Given the description of an element on the screen output the (x, y) to click on. 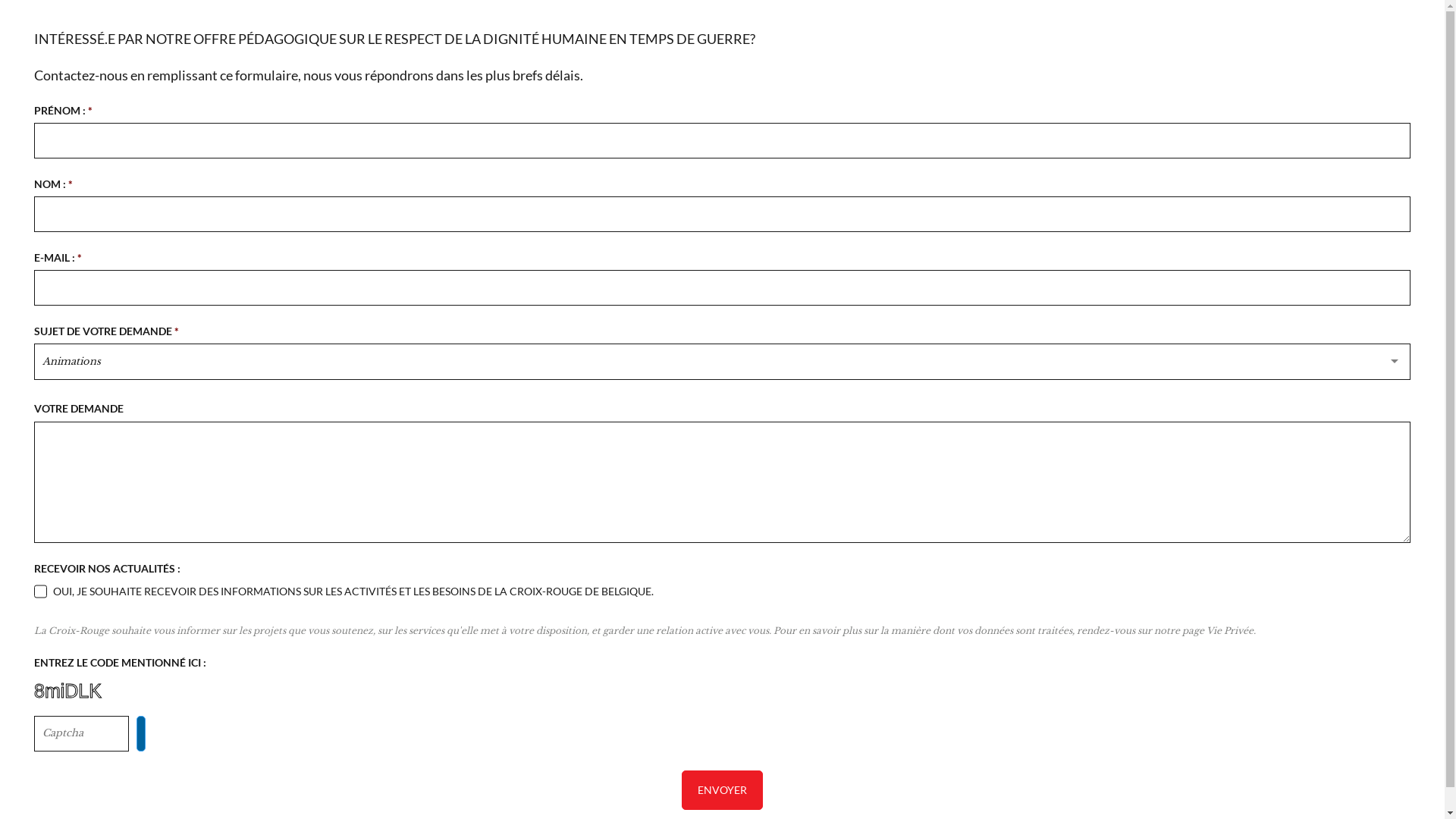
ENVOYER Element type: text (721, 789)
